Given the description of an element on the screen output the (x, y) to click on. 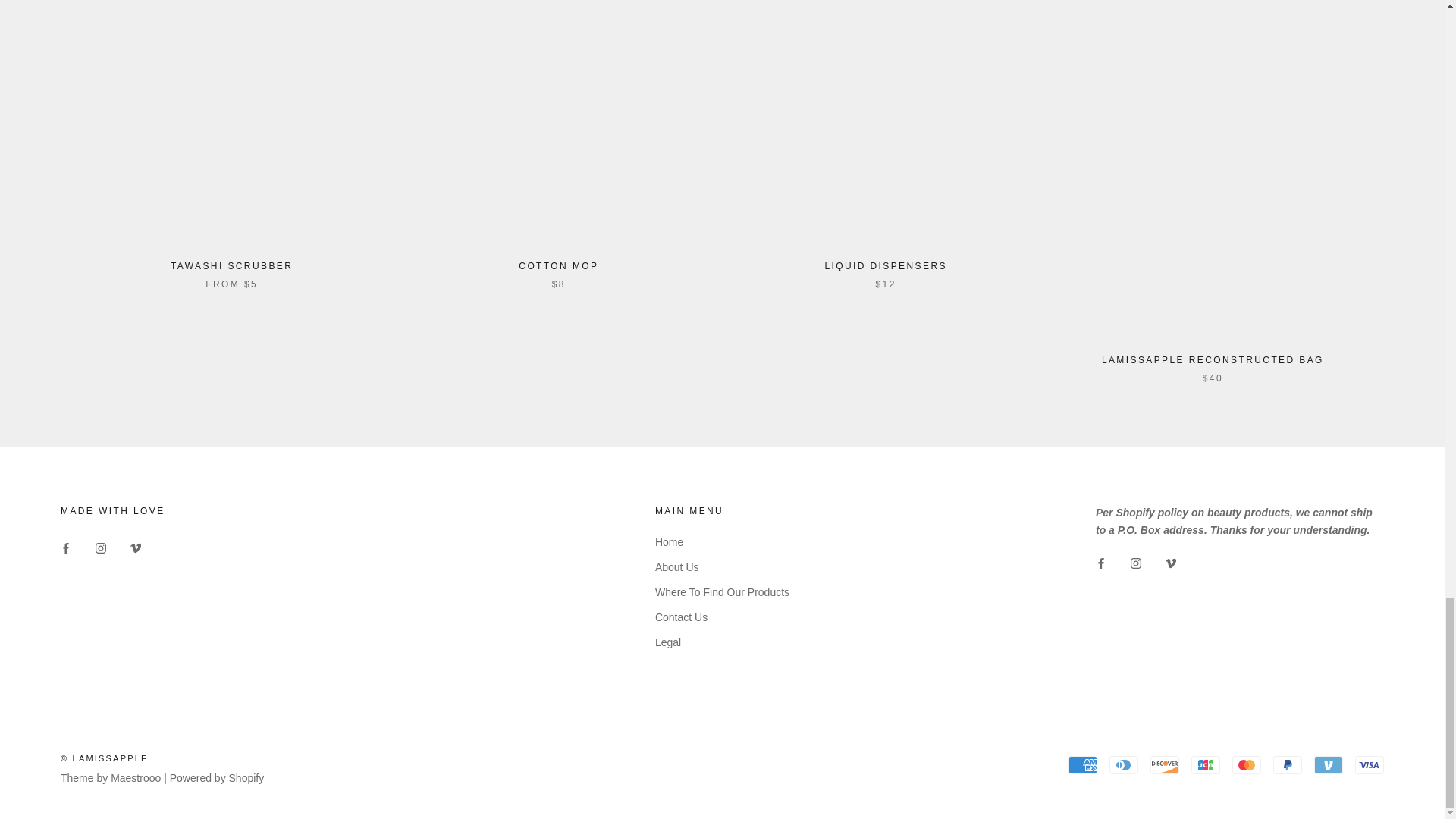
American Express (1082, 764)
Diners Club (1123, 764)
Discover (1164, 764)
Mastercard (1245, 764)
PayPal (1286, 764)
JCB (1205, 764)
